Given the description of an element on the screen output the (x, y) to click on. 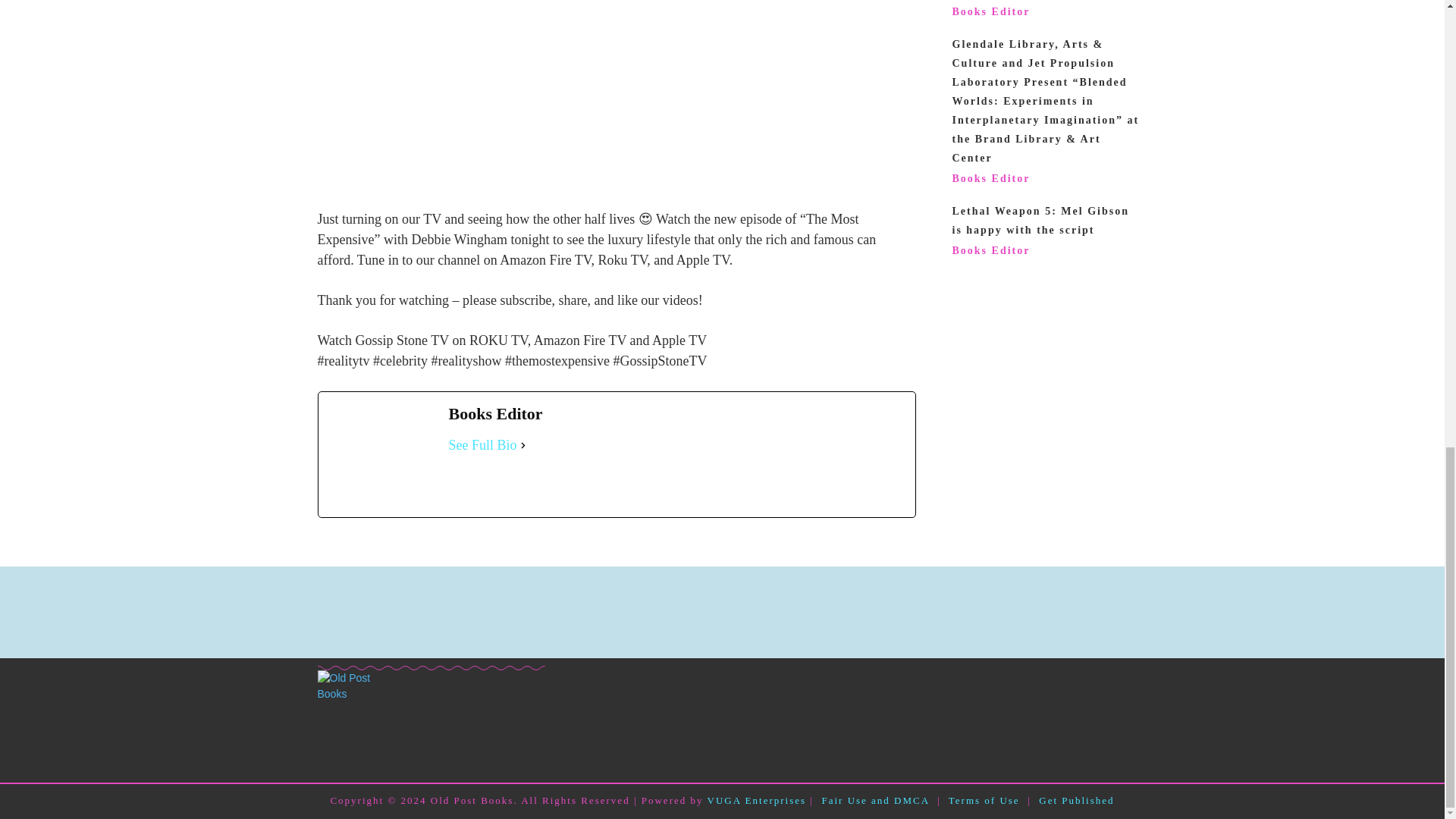
See Full Bio (482, 444)
